Given the description of an element on the screen output the (x, y) to click on. 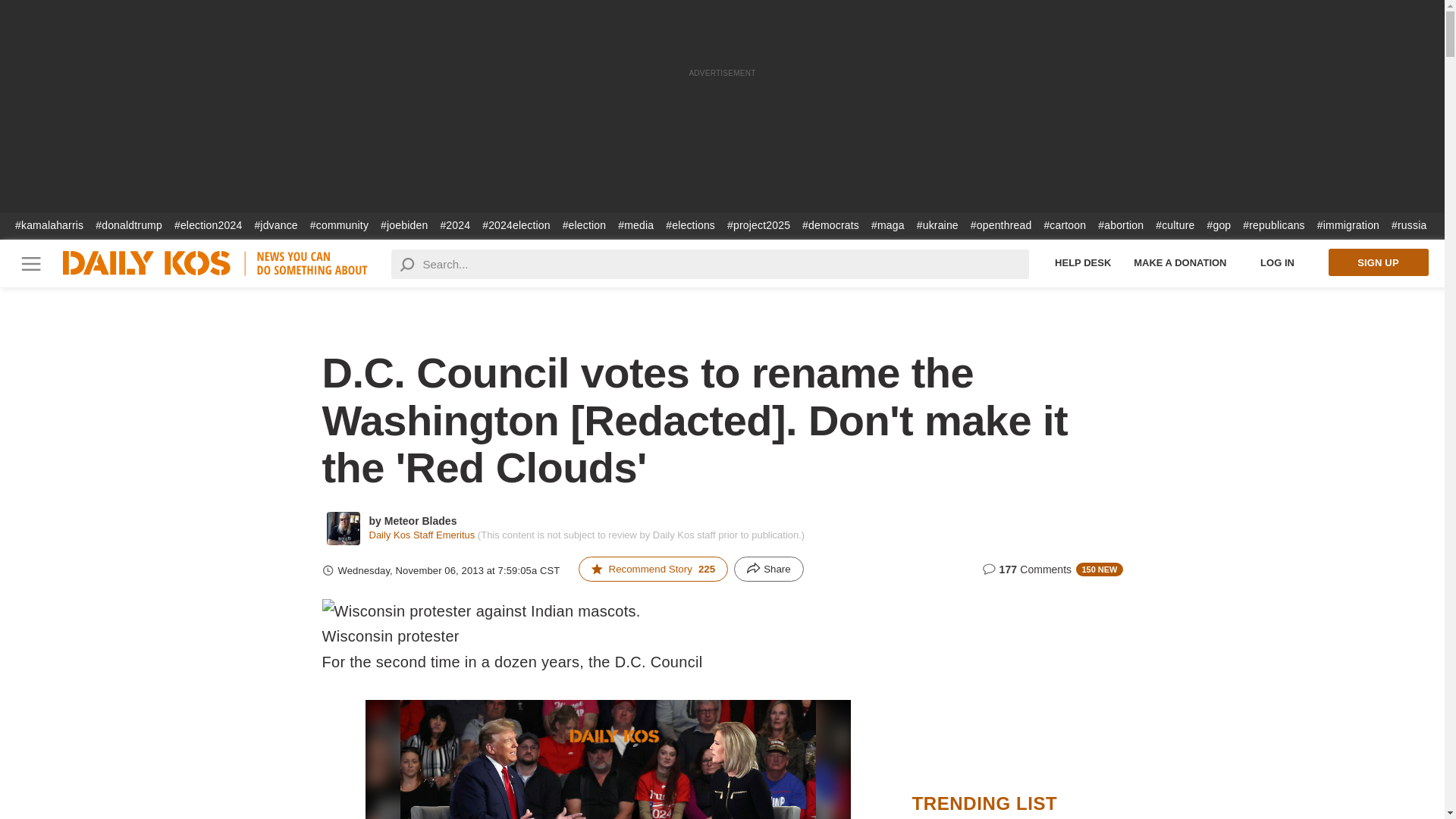
MAKE A DONATION (1179, 262)
Help Desk (1082, 262)
Make a Donation (1179, 262)
